Given the description of an element on the screen output the (x, y) to click on. 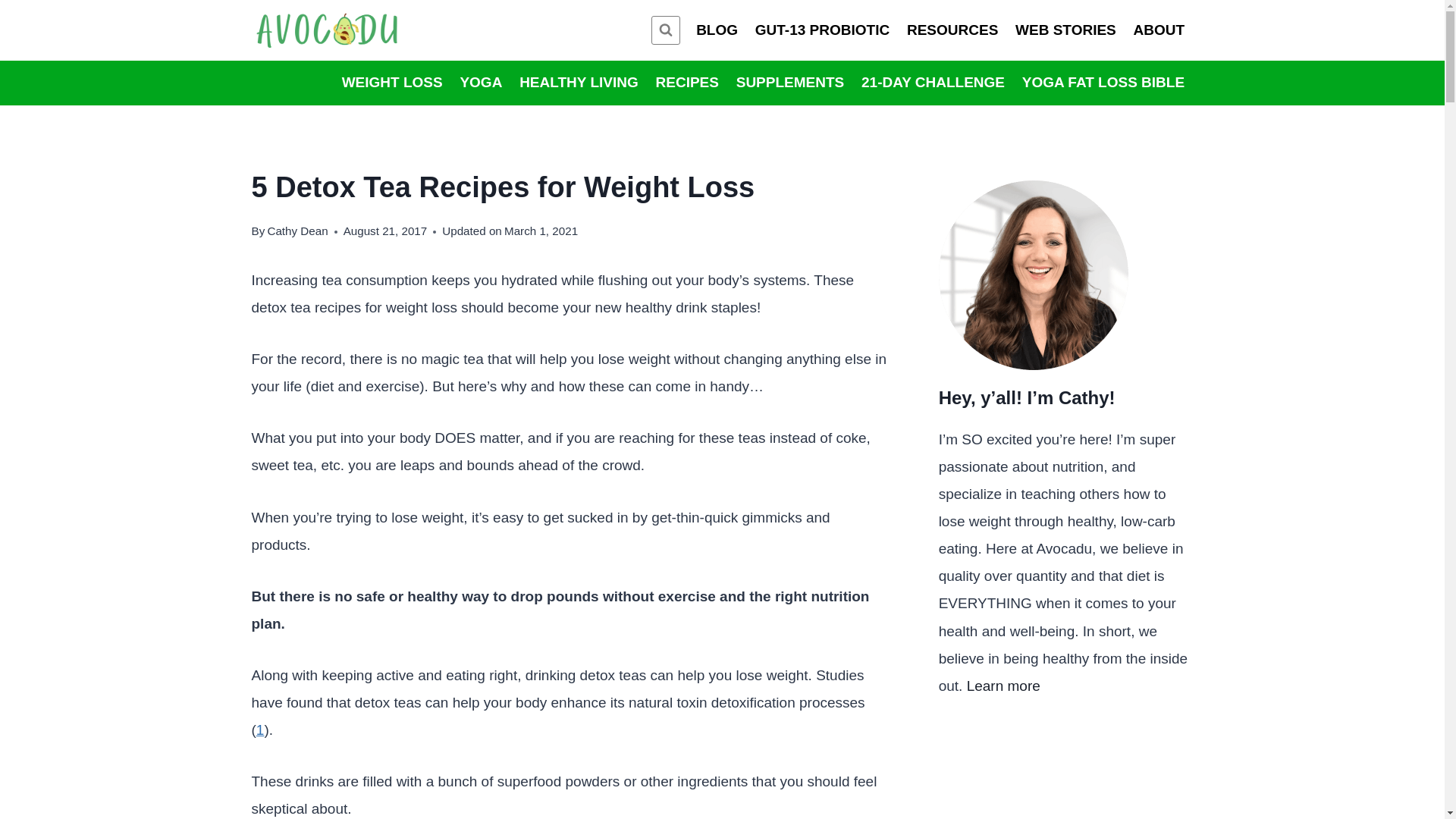
RESOURCES (952, 30)
Cathy Dean (296, 230)
RECIPES (686, 82)
21-DAY CHALLENGE (933, 82)
HEALTHY LIVING (578, 82)
SUPPLEMENTS (788, 82)
BLOG (716, 30)
ABOUT (1158, 30)
WEIGHT LOSS (392, 82)
GUT-13 PROBIOTIC (821, 30)
YOGA (481, 82)
WEB STORIES (1065, 30)
YOGA FAT LOSS BIBLE (1102, 82)
